Given the description of an element on the screen output the (x, y) to click on. 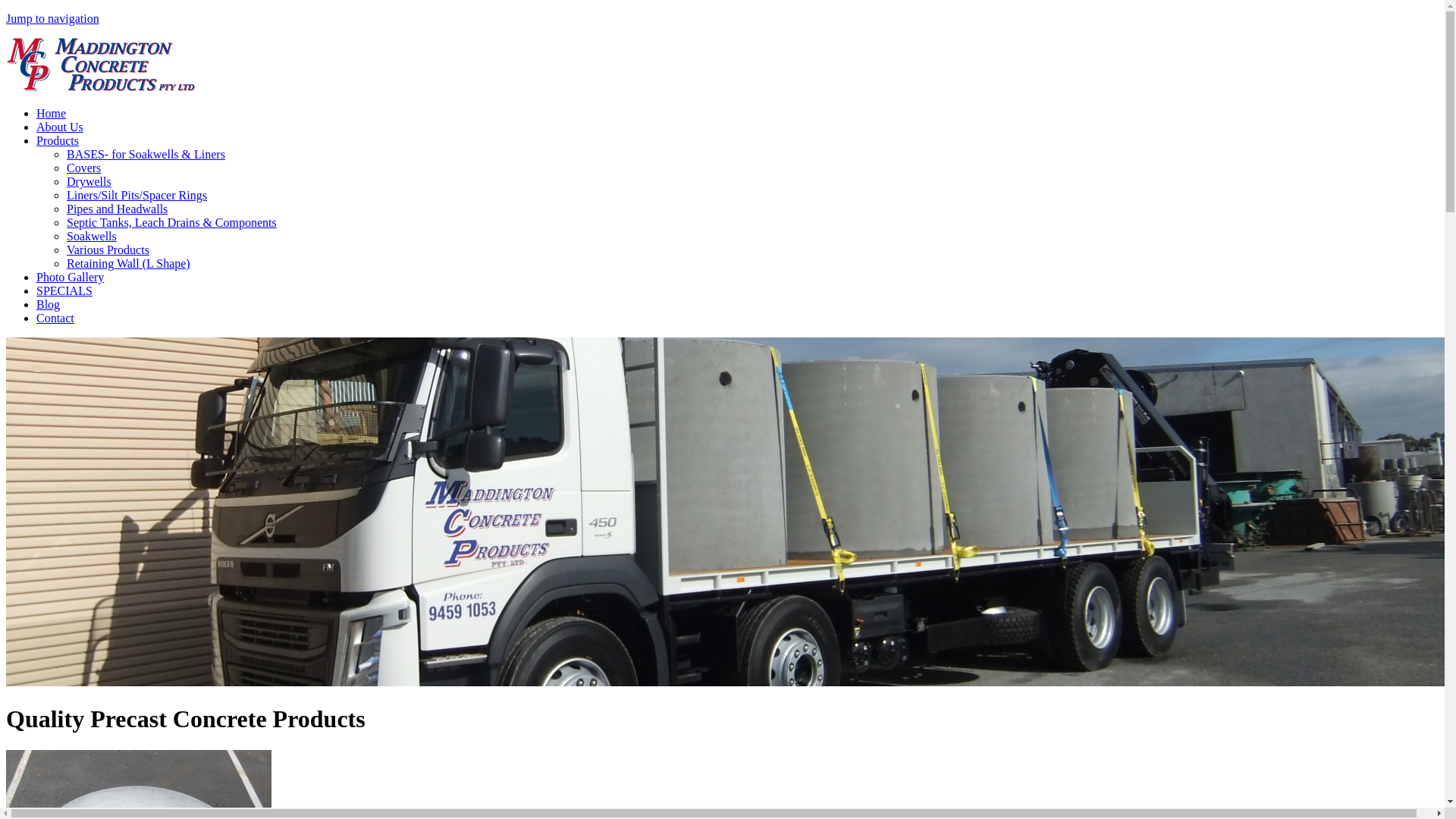
Covers Element type: text (83, 167)
Photo Gallery Element type: text (69, 276)
Jump to navigation Element type: text (52, 18)
Blog Element type: text (47, 304)
Pipes and Headwalls Element type: text (116, 208)
Soakwells Element type: text (91, 235)
Drywells Element type: text (88, 181)
Liners/Silt Pits/Spacer Rings Element type: text (136, 194)
Contact Element type: text (55, 317)
BASES- for Soakwells & Liners Element type: text (145, 153)
Septic Tanks, Leach Drains & Components Element type: text (171, 222)
About Us Element type: text (59, 126)
Retaining Wall (L Shape) Element type: text (128, 263)
Home Element type: text (50, 112)
SPECIALS Element type: text (64, 290)
Various Products Element type: text (107, 249)
Home Element type: hover (100, 87)
Products Element type: text (57, 140)
